Given the description of an element on the screen output the (x, y) to click on. 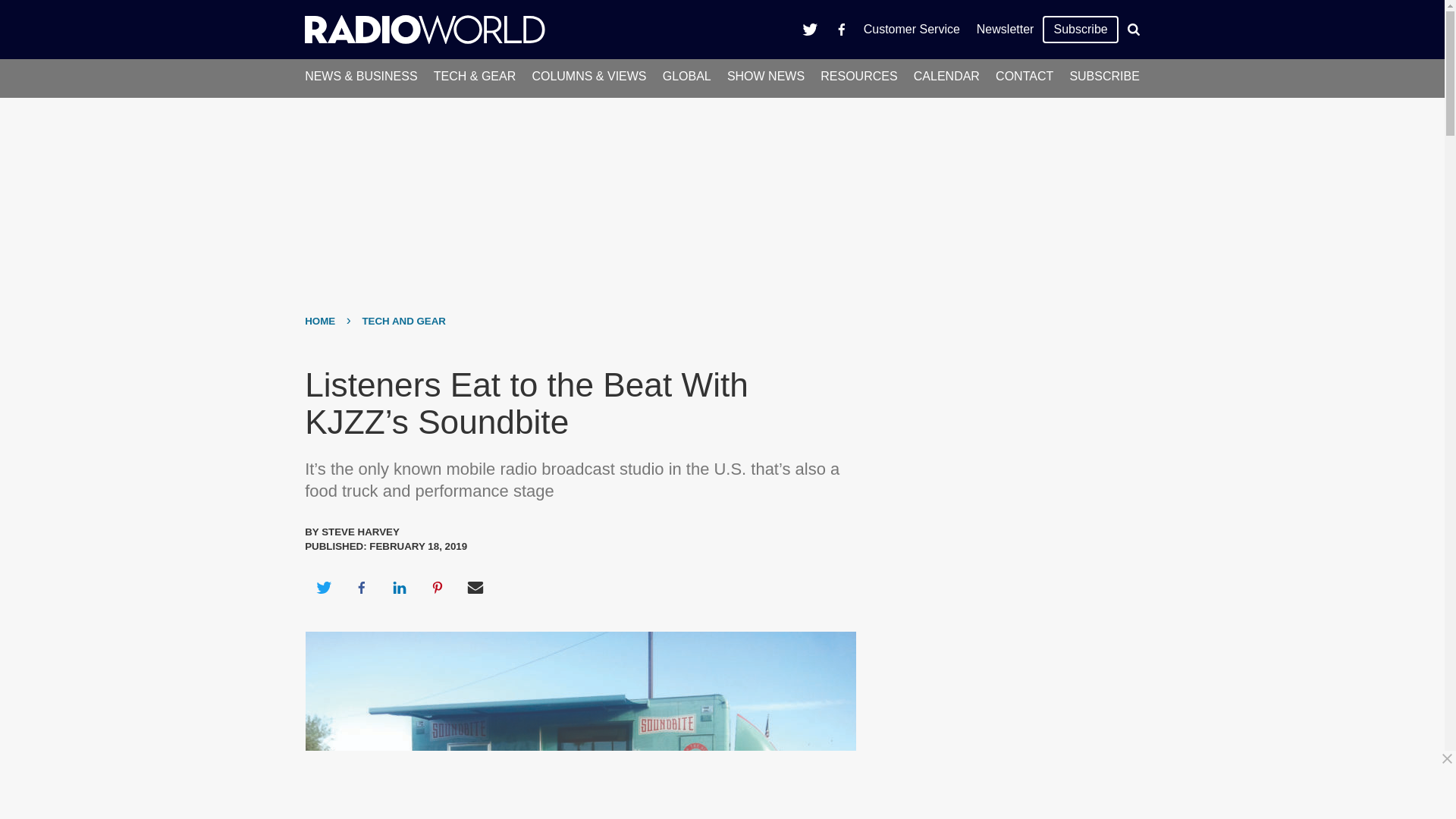
Share on LinkedIn (399, 587)
Share on Twitter (323, 587)
Advertisement (1005, 667)
Share via Email (476, 587)
Share on Facebook (361, 587)
Newsletter (1005, 29)
Advertisement (727, 785)
Customer Service (912, 29)
Share on Pinterest (438, 587)
